Given the description of an element on the screen output the (x, y) to click on. 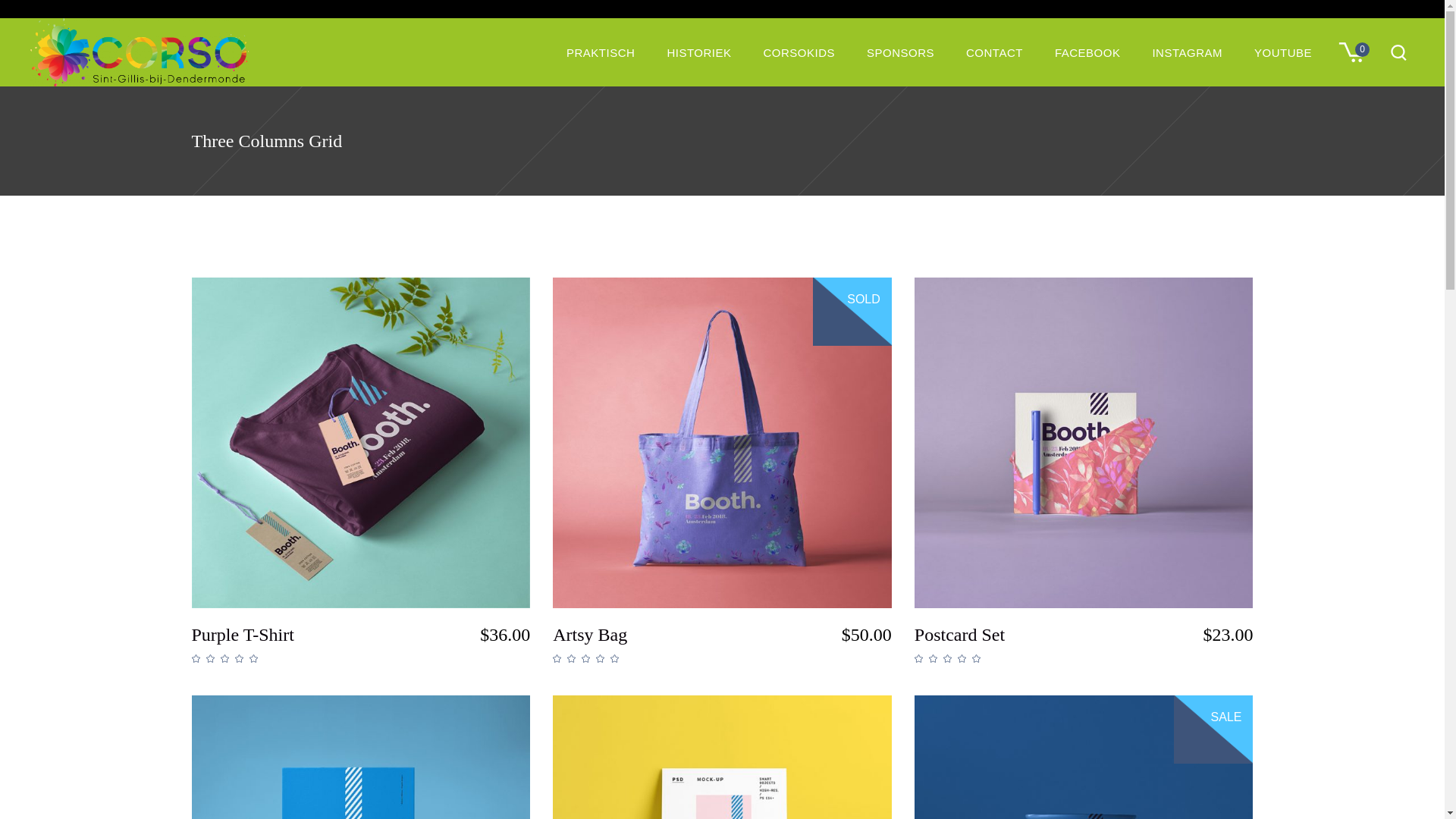
Rated %s out of 5 Element type: hover (588, 658)
Rated %s out of 5 Element type: hover (227, 658)
SPONSORS Element type: text (900, 52)
Postcard Set Element type: text (959, 634)
CONTACT Element type: text (994, 52)
Artsy Bag Element type: text (589, 634)
CORSOKIDS Element type: text (798, 52)
0 Element type: text (1357, 52)
Rated %s out of 5 Element type: hover (950, 658)
Purple T-Shirt Element type: hover (360, 442)
PRAKTISCH Element type: text (600, 52)
INSTAGRAM Element type: text (1186, 52)
Artsy Bag Element type: hover (721, 442)
Postcard Set Element type: hover (1083, 442)
YOUTUBE Element type: text (1282, 52)
Purple T-Shirt Element type: text (242, 634)
FACEBOOK Element type: text (1087, 52)
HISTORIEK Element type: text (698, 52)
